Given the description of an element on the screen output the (x, y) to click on. 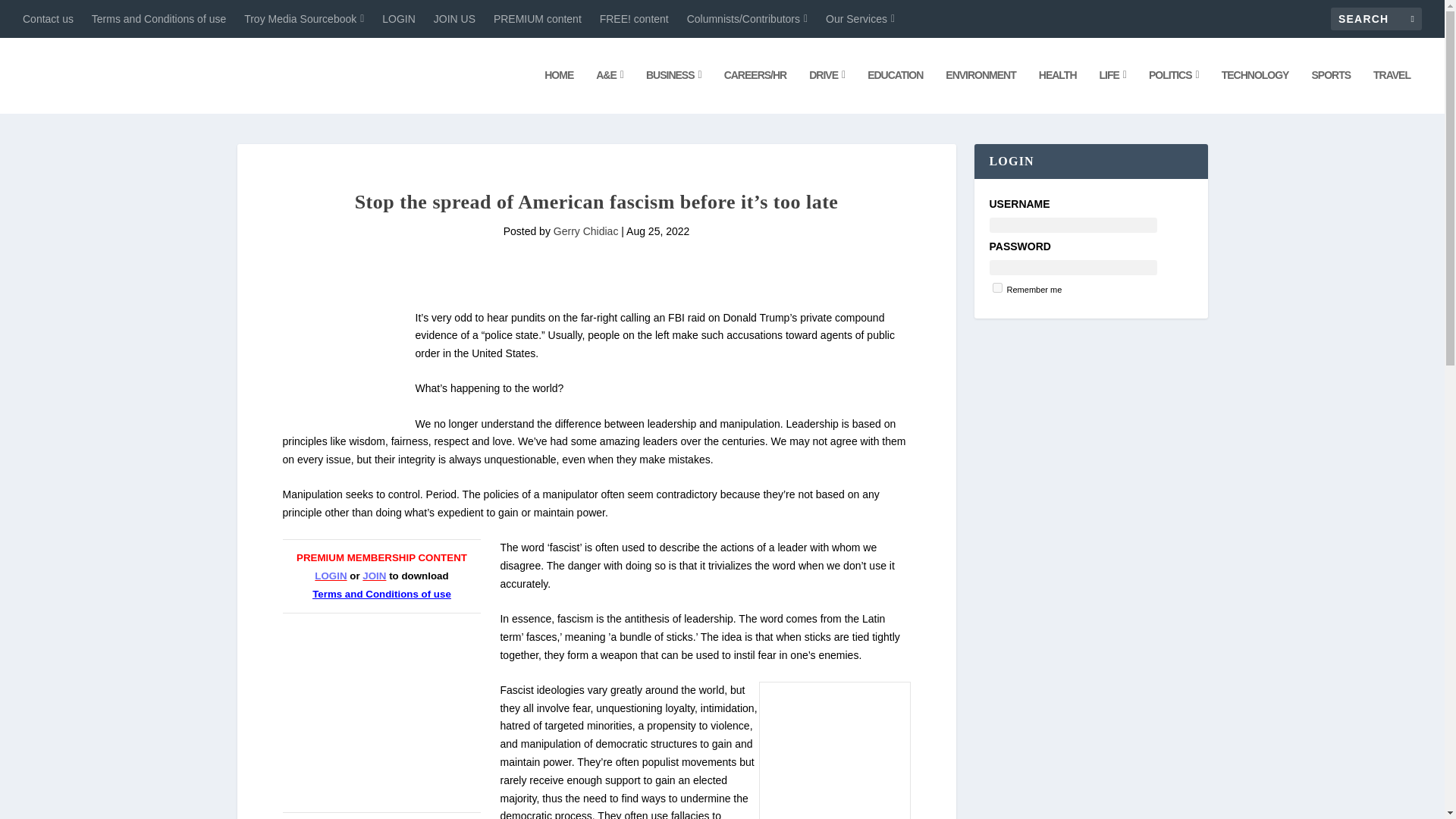
BUSINESS (673, 90)
Posts by Gerry Chidiac (585, 231)
FREE! content (633, 18)
forever (996, 287)
PREMIUM content (536, 18)
Our Services (860, 18)
Contact us (48, 18)
Troy Media Sourcebook (304, 18)
Terms and Conditions of use (158, 18)
JOIN US (454, 18)
Search for: (1376, 18)
ENVIRONMENT (979, 90)
EDUCATION (895, 90)
